Given the description of an element on the screen output the (x, y) to click on. 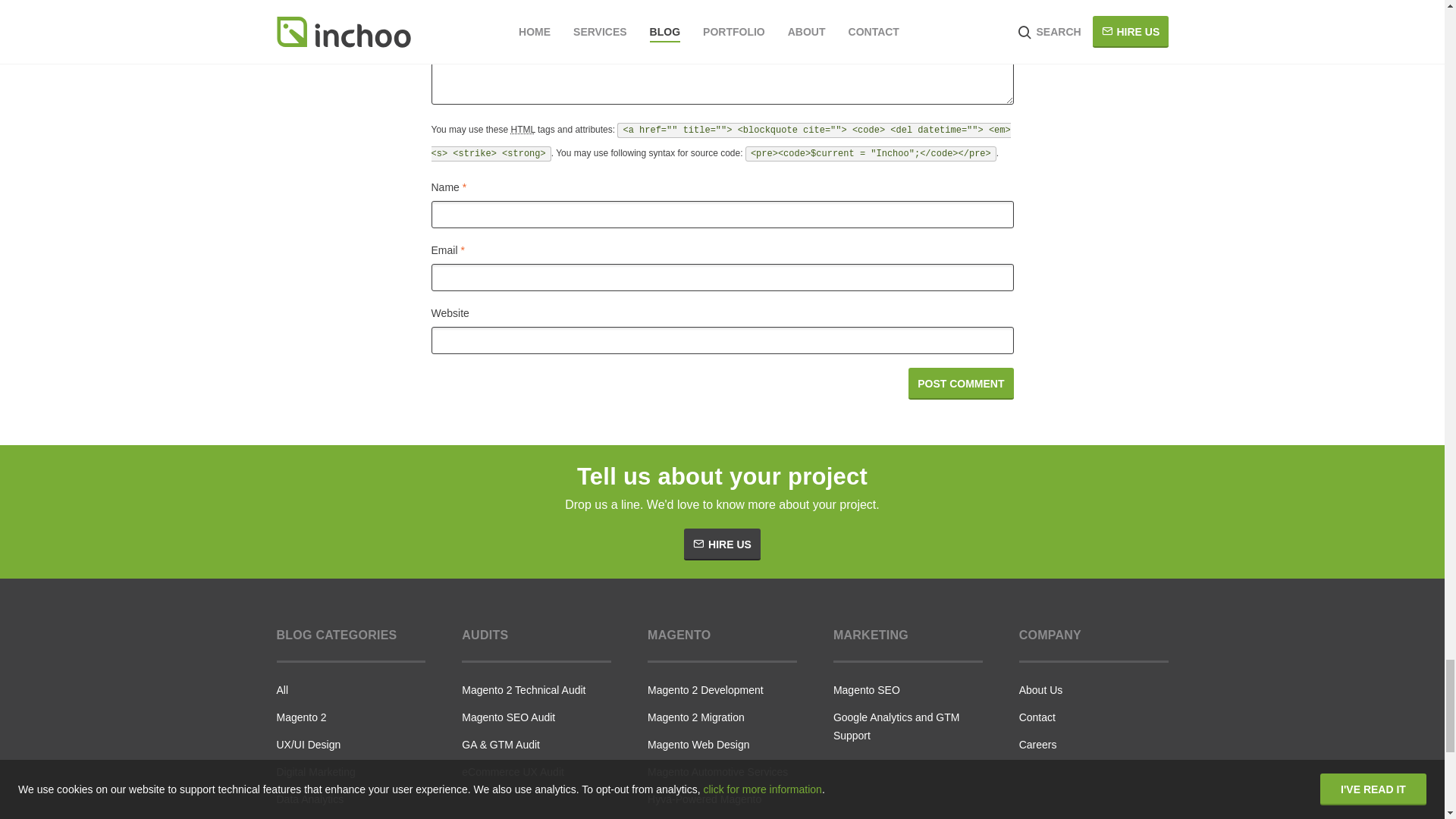
Post Comment (960, 383)
